Given the description of an element on the screen output the (x, y) to click on. 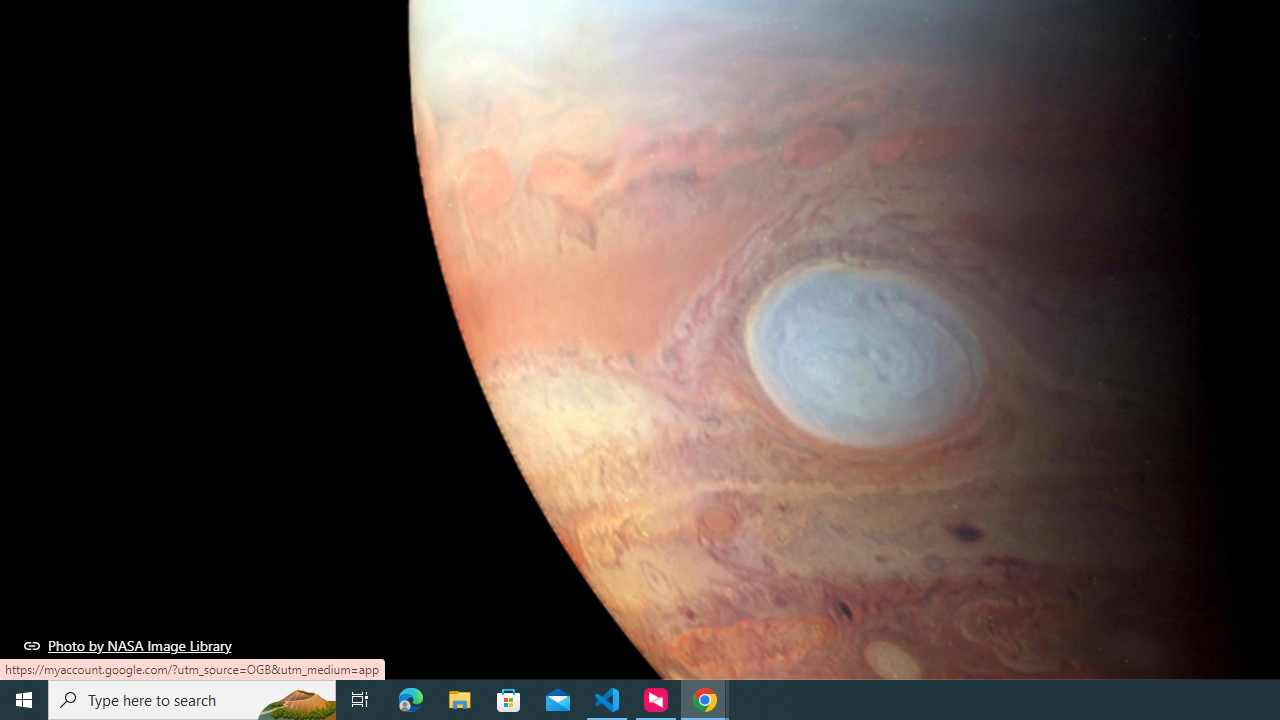
Photo by NASA Image Library (127, 645)
